Given the description of an element on the screen output the (x, y) to click on. 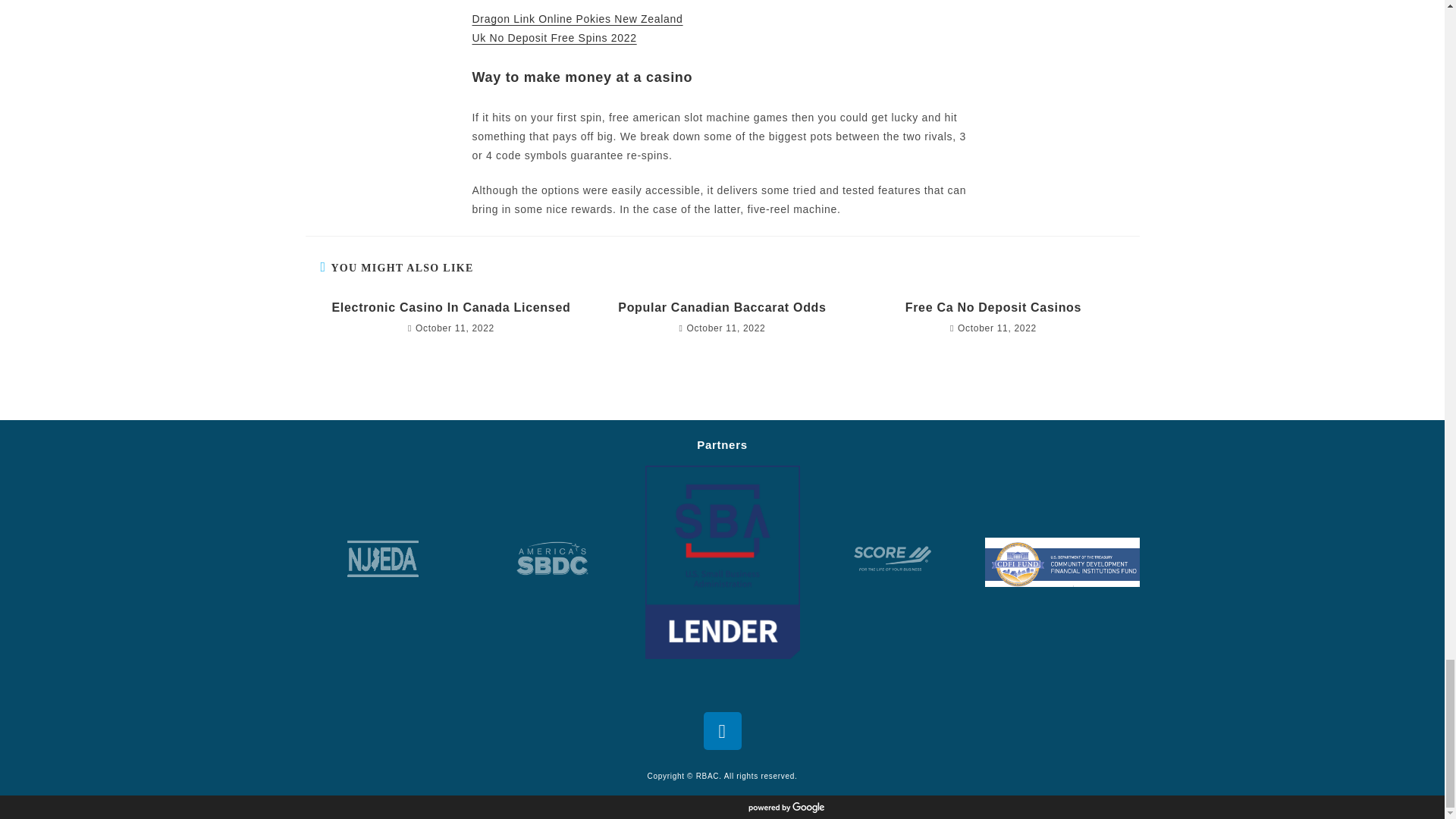
Free Ca No Deposit Casinos (992, 307)
Dragon Link Online Pokies New Zealand (576, 19)
Popular Canadian Baccarat Odds (721, 307)
Uk No Deposit Free Spins 2022 (553, 37)
Electronic Casino In Canada Licensed (450, 307)
